Given the description of an element on the screen output the (x, y) to click on. 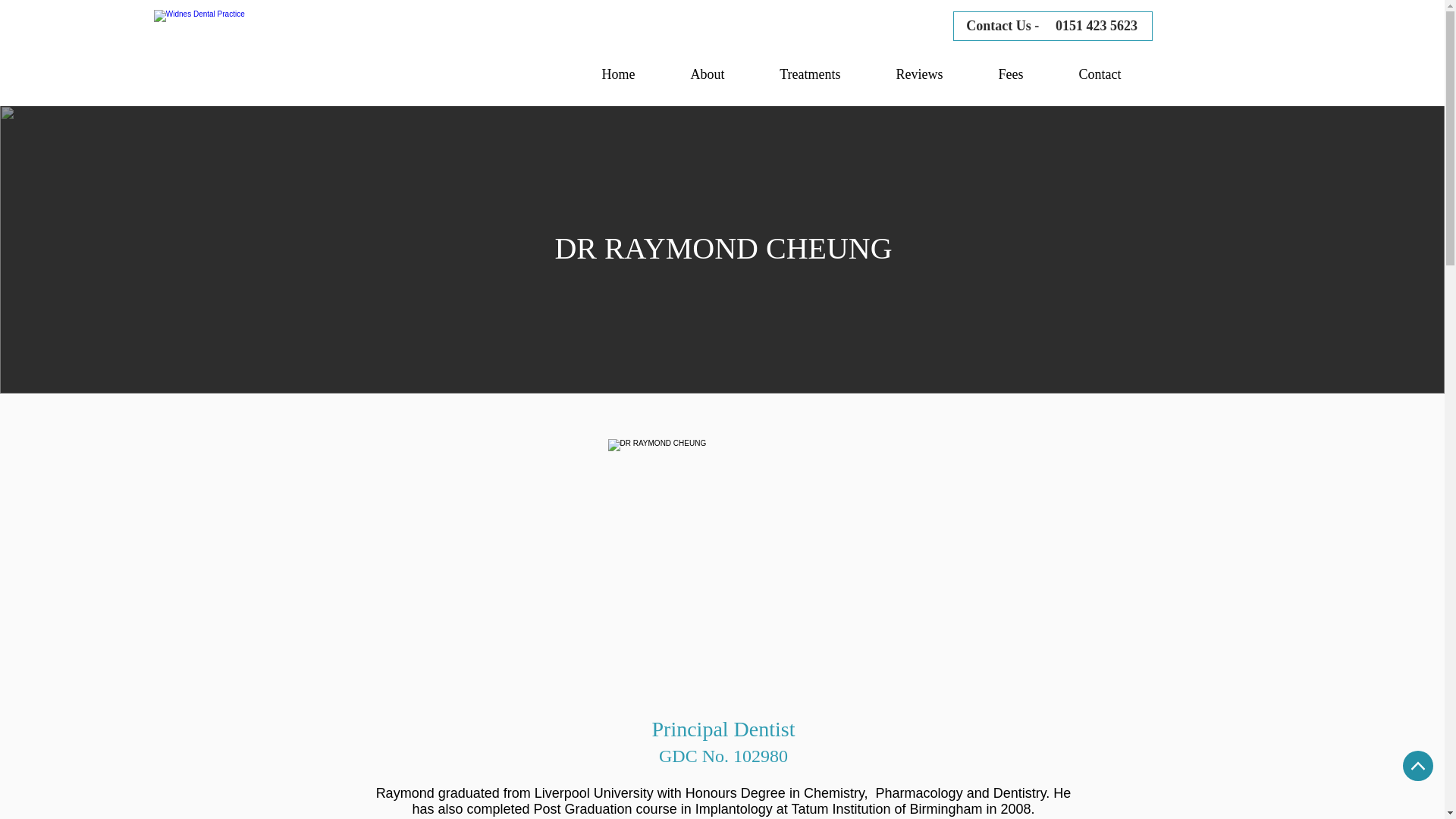
0151 423 5623 (1096, 25)
About (707, 73)
Reviews (919, 73)
Back To Top (1417, 766)
Contact (1099, 73)
Home (617, 73)
Treatments (809, 73)
